Given the description of an element on the screen output the (x, y) to click on. 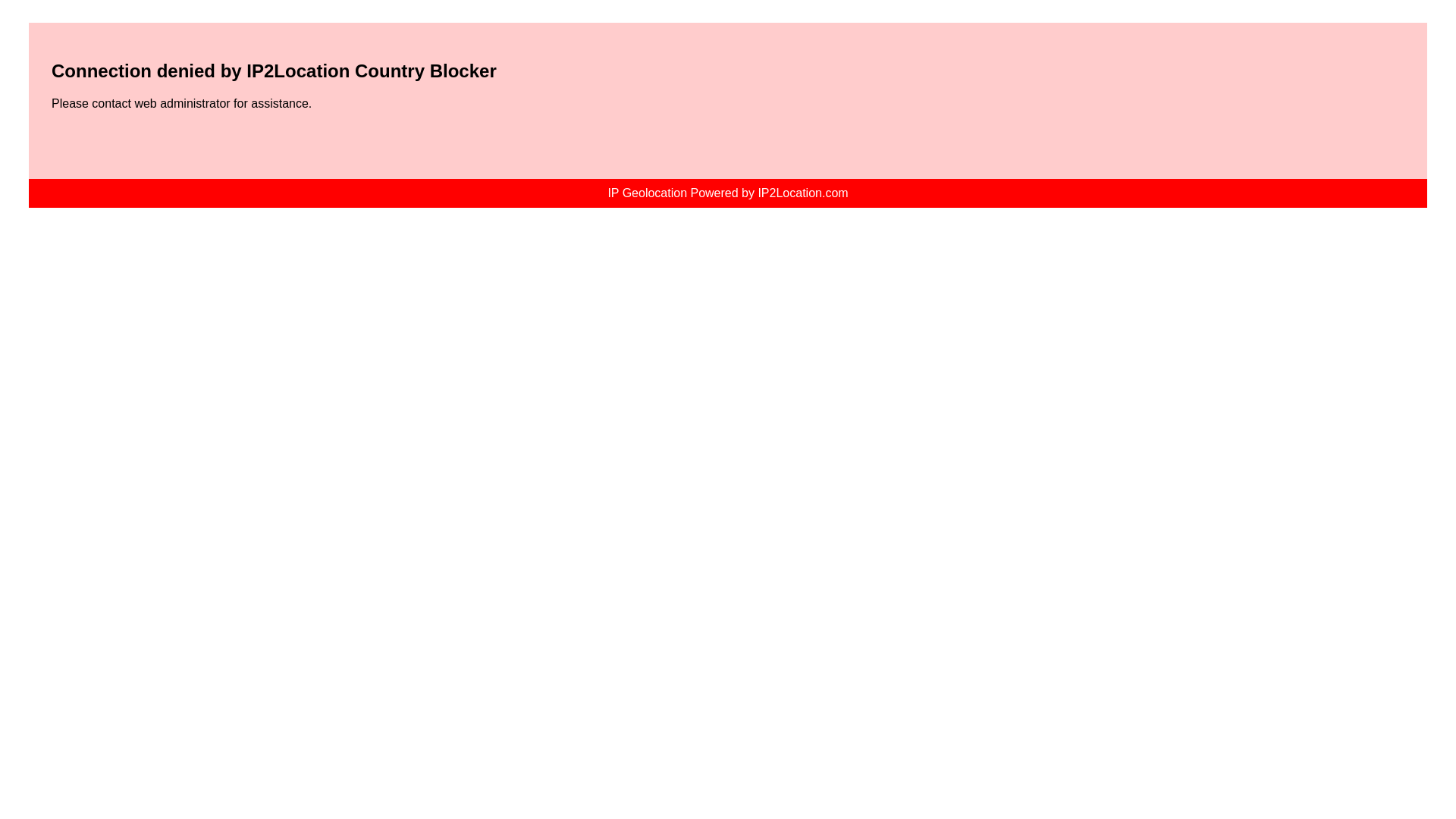
IP Geolocation Powered by IP2Location.com (727, 192)
